Given the description of an element on the screen output the (x, y) to click on. 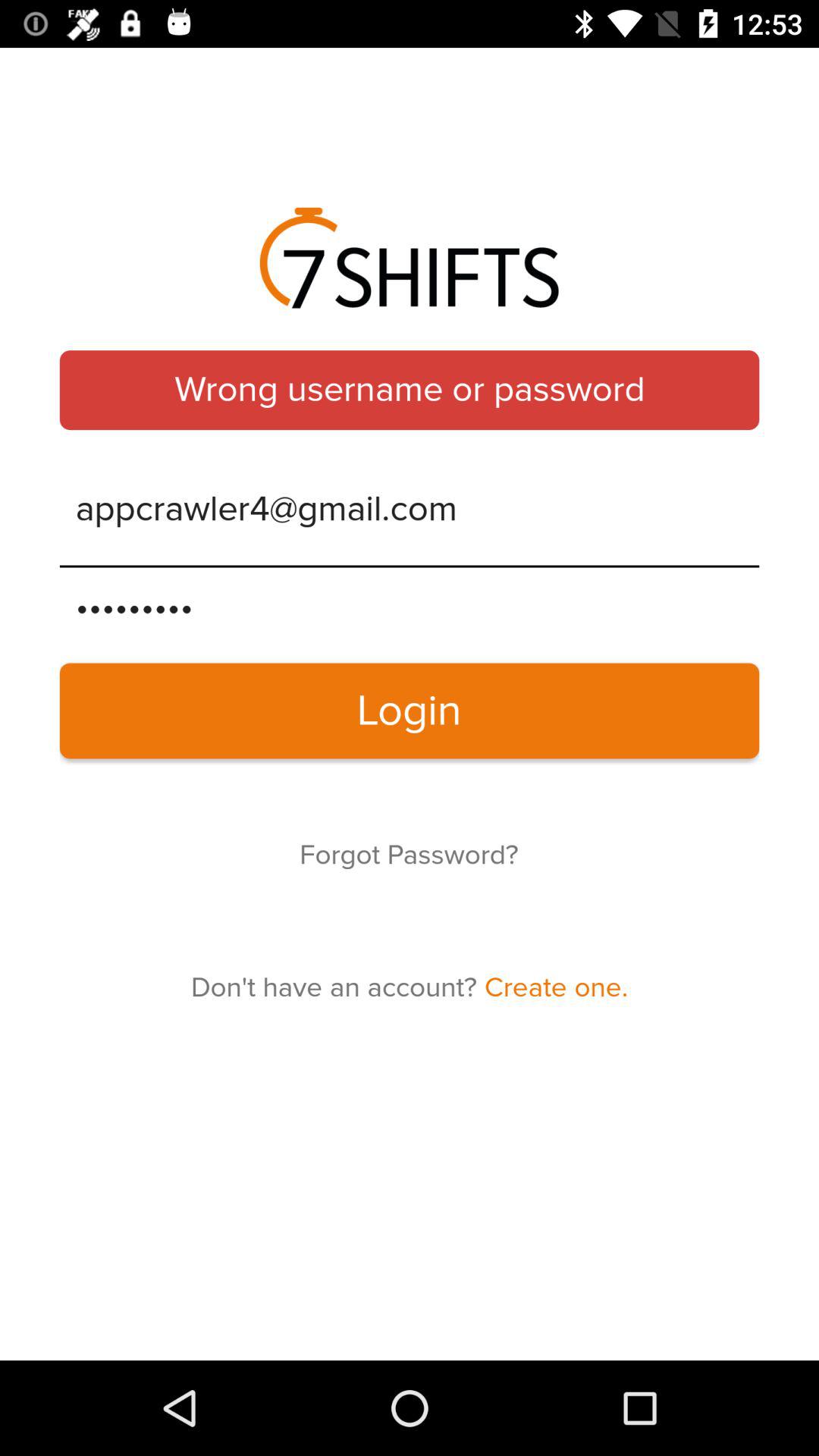
launch the crowd3116 (409, 607)
